Given the description of an element on the screen output the (x, y) to click on. 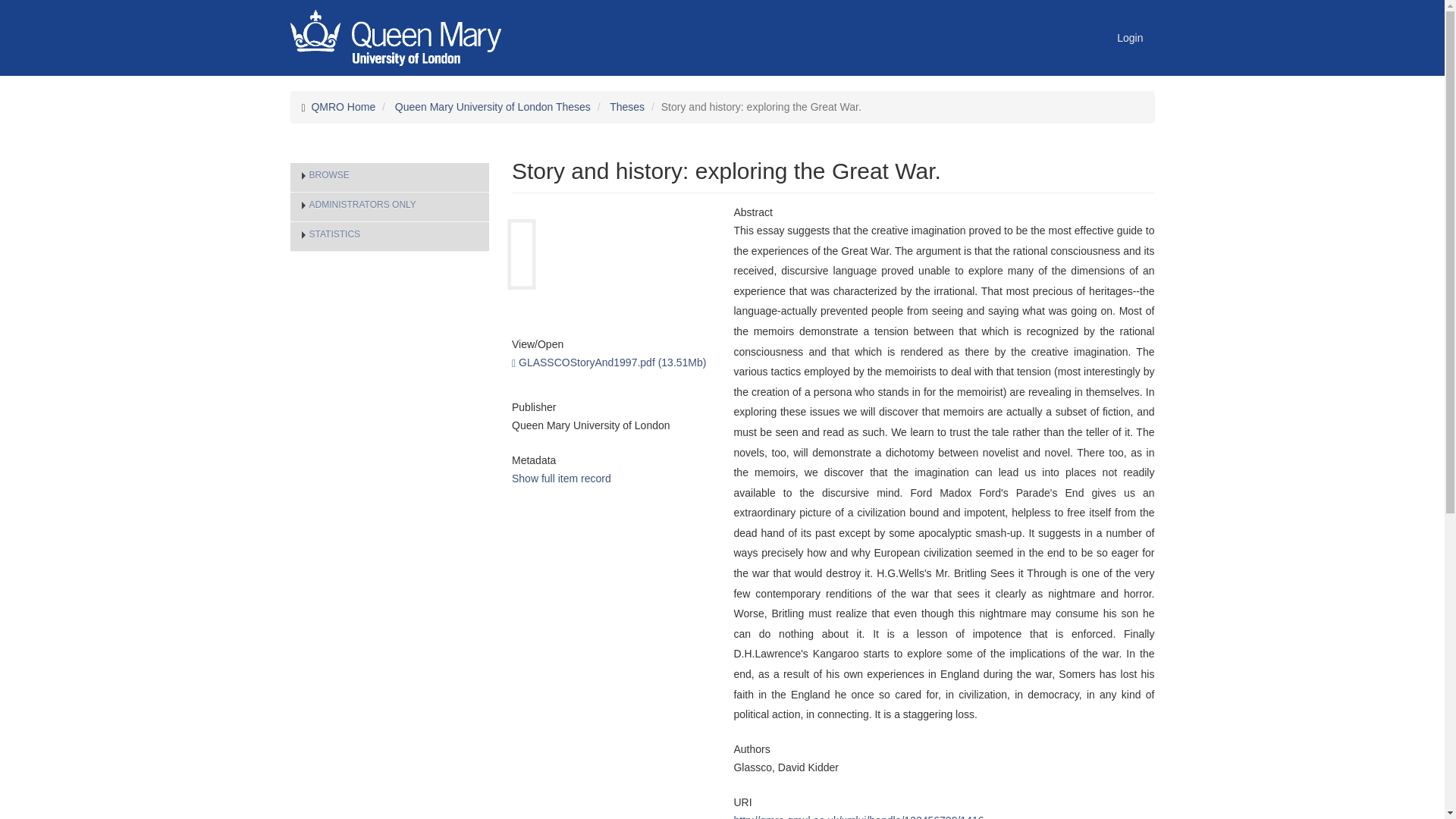
Theses (627, 106)
Queen Mary University of London Theses (492, 106)
QMRO Home (343, 106)
Show full item record (561, 478)
